Given the description of an element on the screen output the (x, y) to click on. 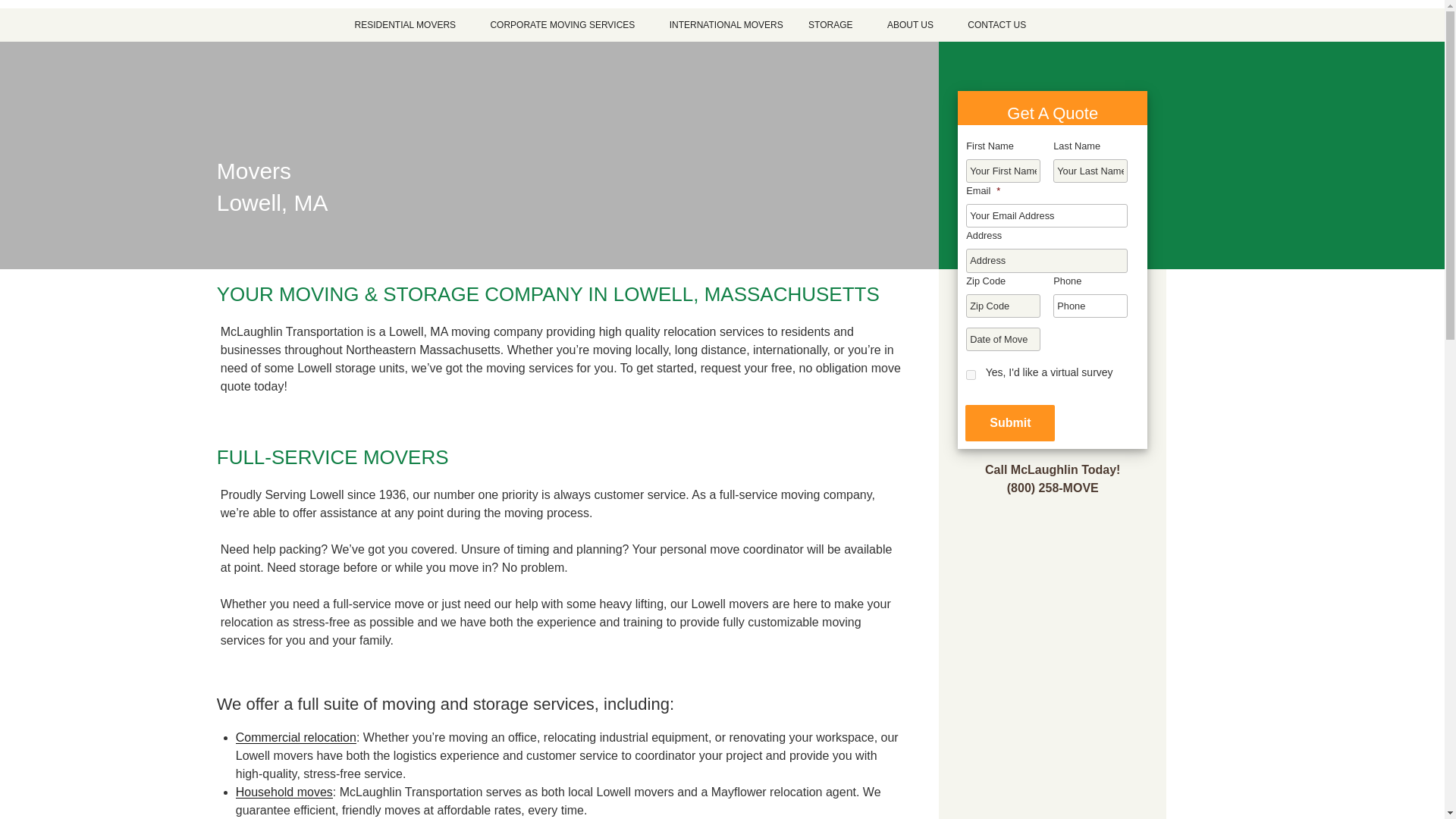
ABOUT US (914, 24)
CONTACT US (996, 24)
Submit (1009, 422)
Submit (1009, 422)
RESIDENTIAL MOVERS (409, 24)
INTERNATIONAL MOVERS (726, 24)
CORPORATE MOVING SERVICES (567, 24)
Household moves (284, 791)
603-883-4000 (772, 34)
MCLAUGHLIN MOVING (1166, 45)
STORAGE (834, 24)
Yes, I'd like a virtual survey (970, 375)
Commercial relocation (295, 737)
